Given the description of an element on the screen output the (x, y) to click on. 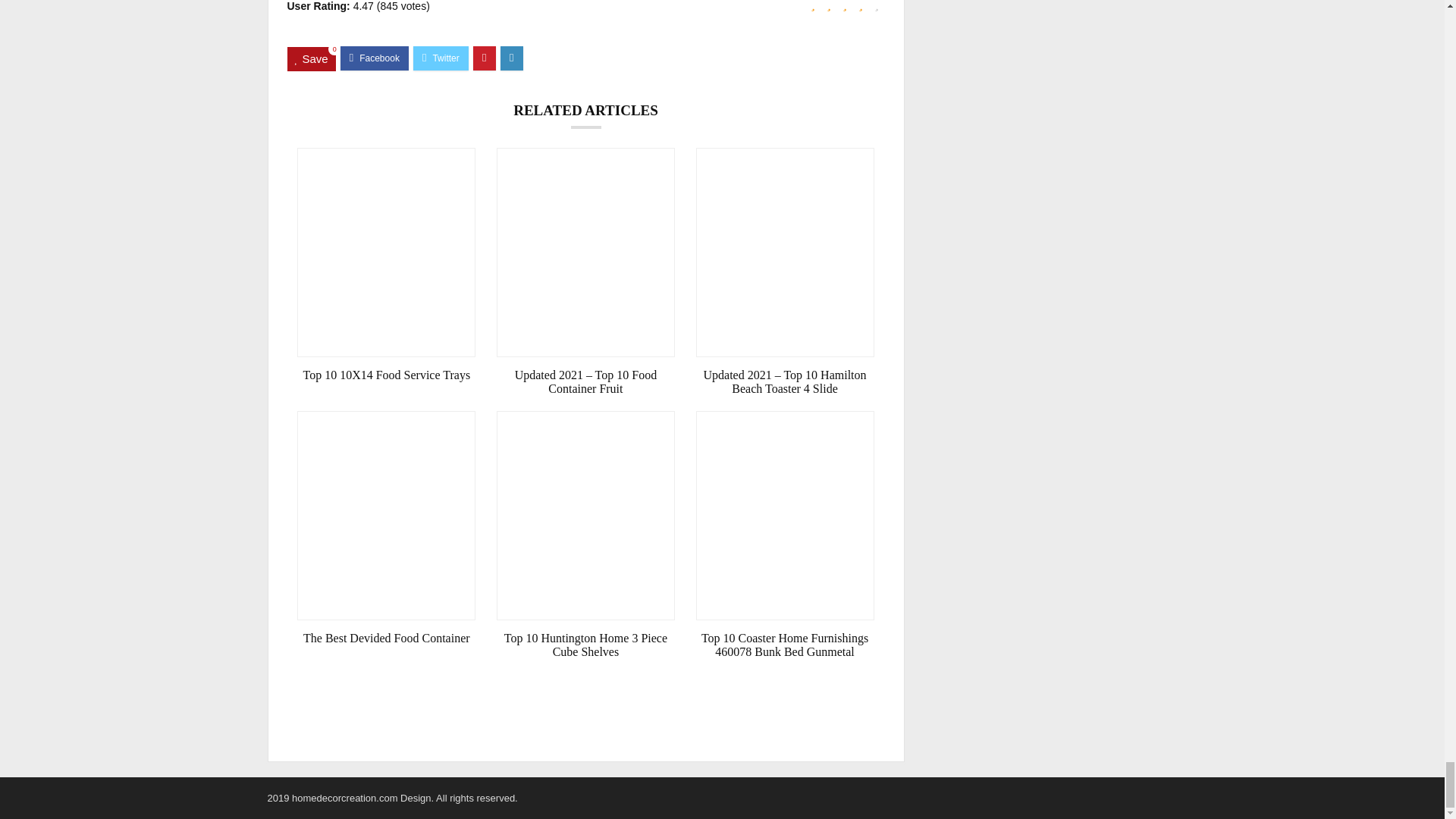
Top 10 Coaster Home Furnishings 460078 Bunk Bed Gunmetal (785, 645)
The Best Devided Food Container (386, 638)
Top 10 Huntington Home 3 Piece Cube Shelves (585, 645)
Top 10 10X14 Food Service Trays (386, 375)
